Given the description of an element on the screen output the (x, y) to click on. 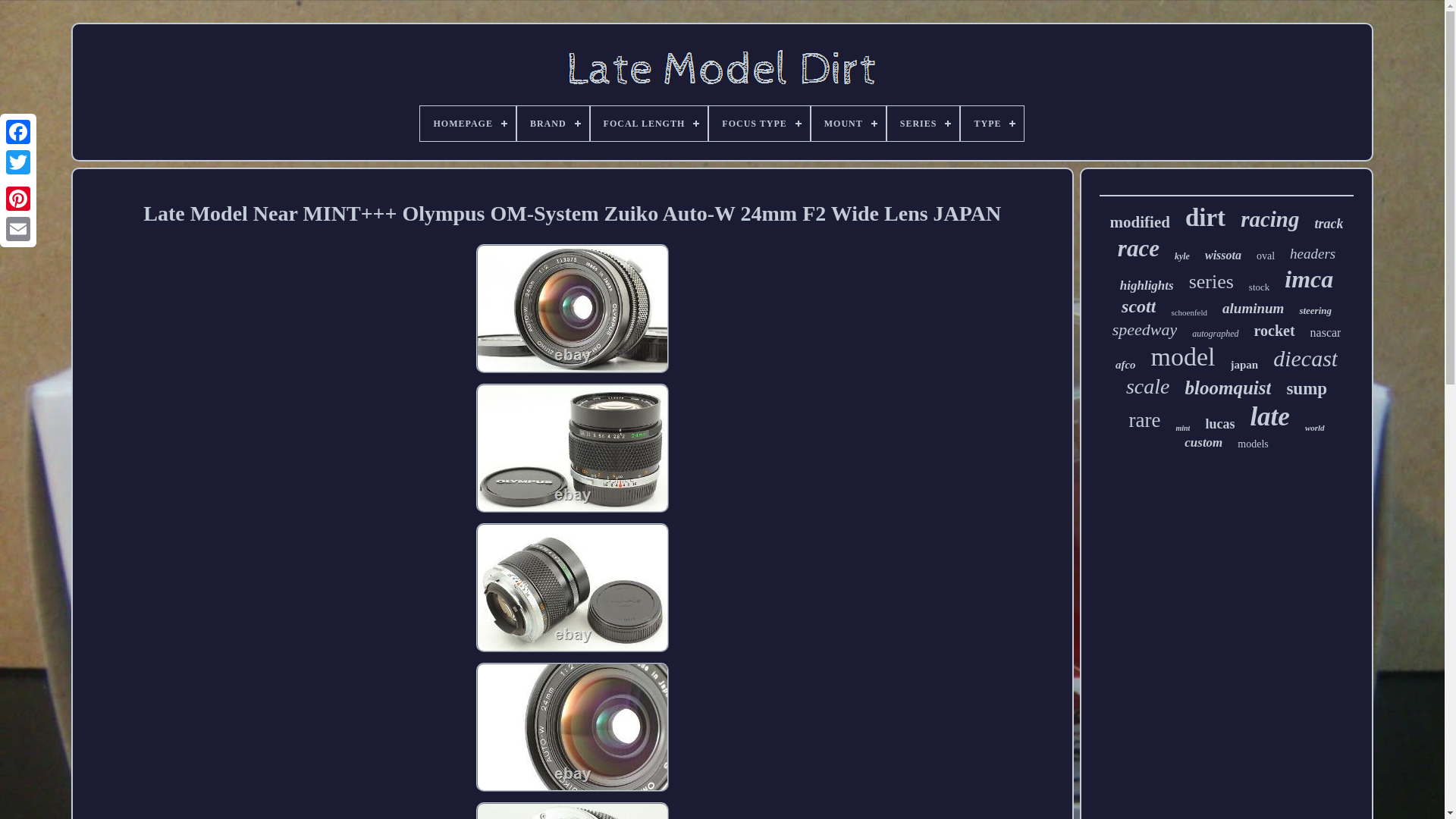
HOMEPAGE (467, 123)
BRAND (552, 123)
FOCAL LENGTH (649, 123)
